Given the description of an element on the screen output the (x, y) to click on. 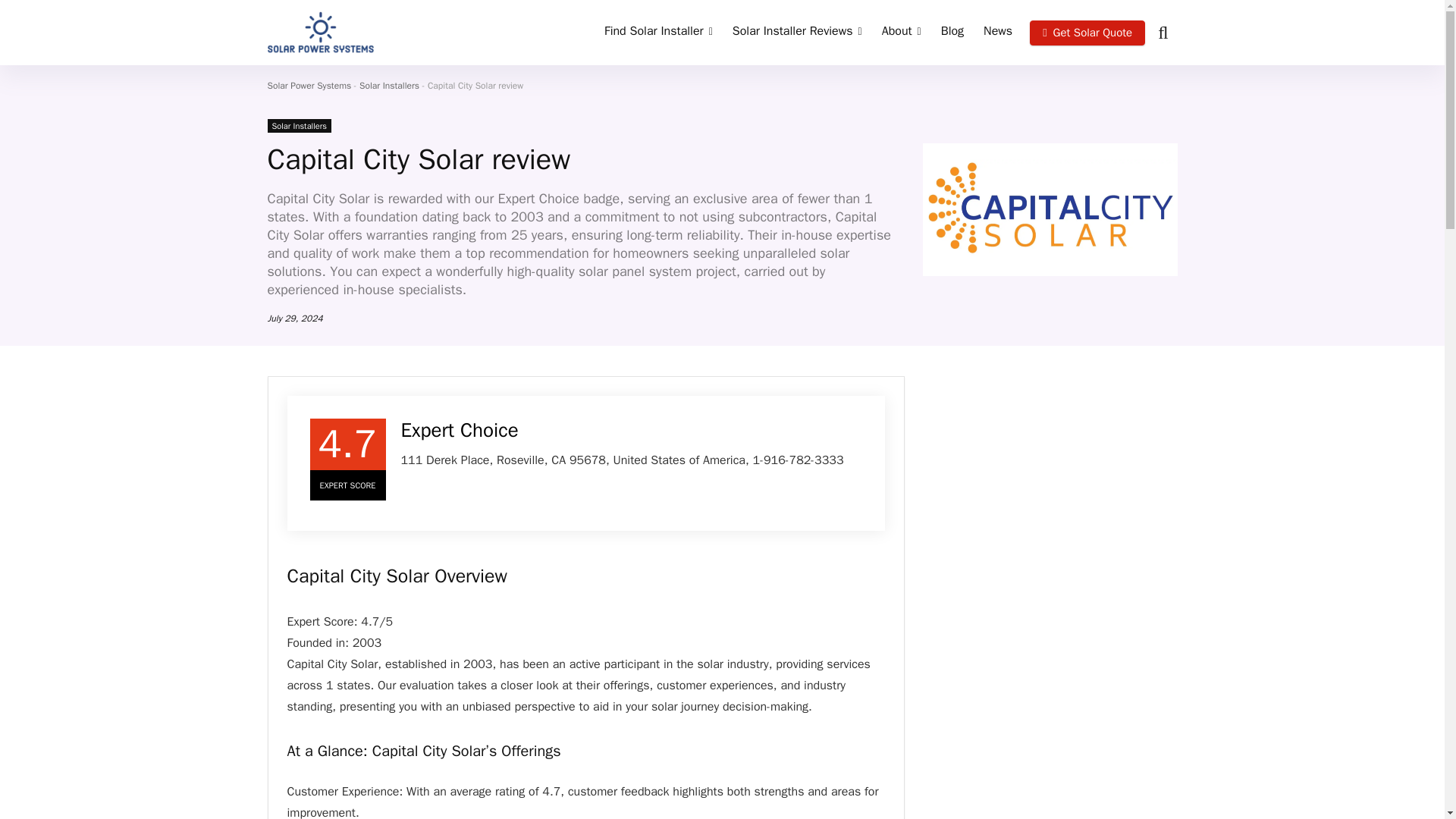
View all posts in Solar Installers (298, 125)
Find Solar Installer (658, 32)
Solar Installer Reviews (797, 32)
News (998, 32)
About (901, 32)
Blog (952, 32)
